Given the description of an element on the screen output the (x, y) to click on. 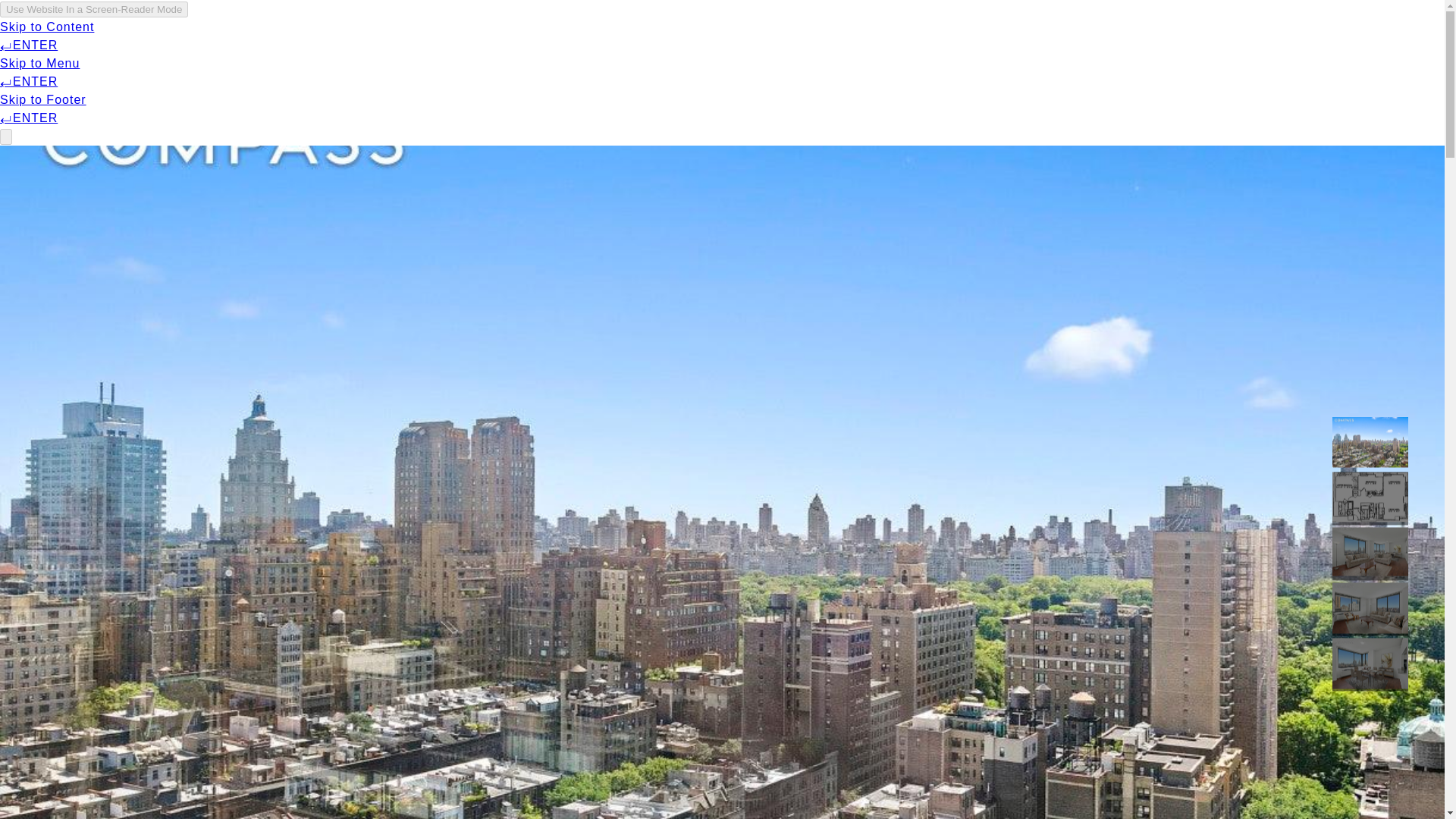
Contact Us (1133, 35)
Our Properties (405, 35)
Menu (187, 35)
Menu (197, 35)
Meet Our Team (283, 35)
